Given the description of an element on the screen output the (x, y) to click on. 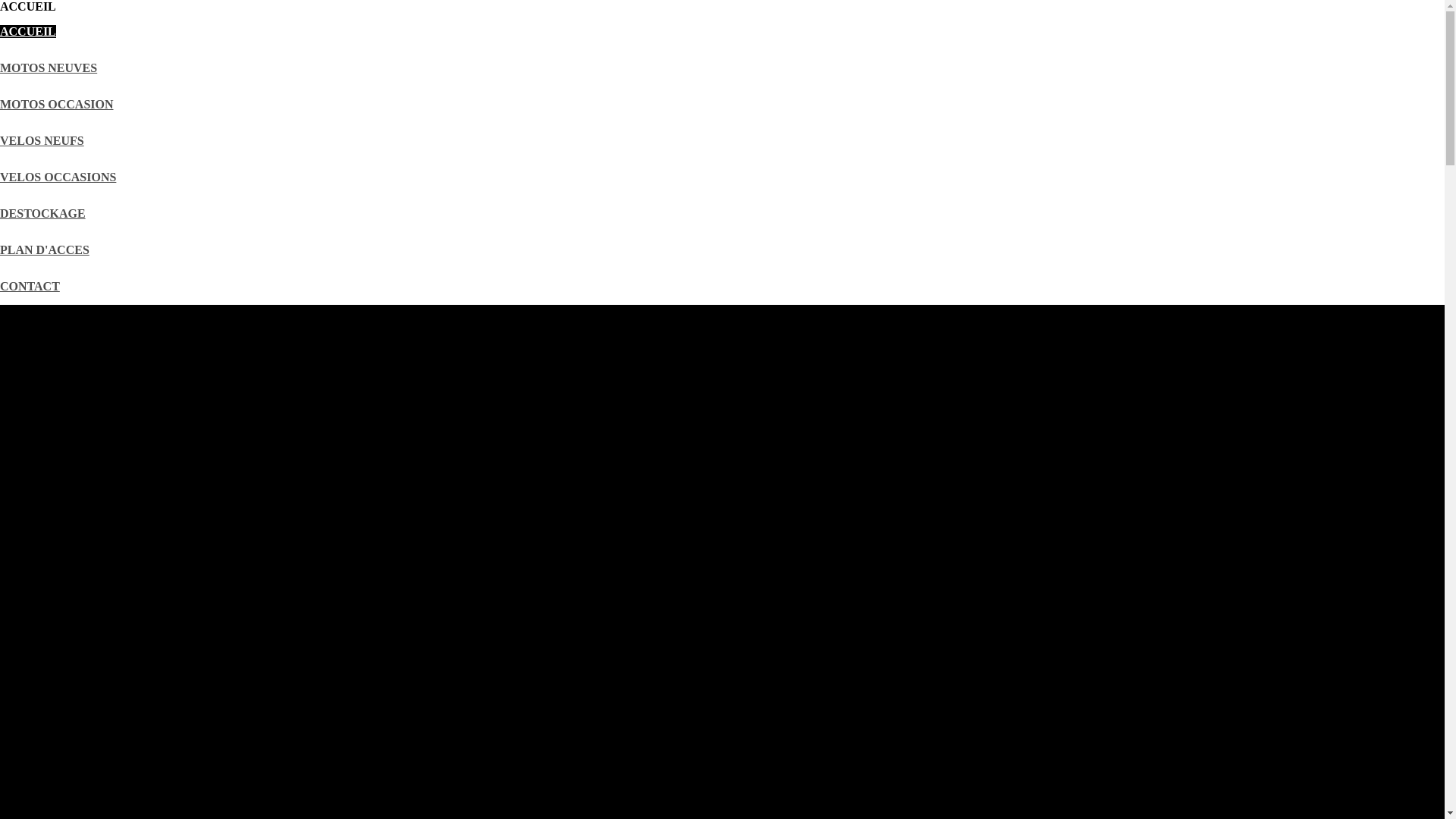
DESTOCKAGE Element type: text (42, 213)
PLAN D'ACCES Element type: text (44, 249)
ACCUEIL Element type: text (28, 31)
MOTOS NEUVES Element type: text (48, 67)
VELOS OCCASIONS Element type: text (58, 176)
CONTACT Element type: text (29, 285)
VELOS NEUFS Element type: text (42, 140)
MOTOS OCCASION Element type: text (56, 103)
